Given the description of an element on the screen output the (x, y) to click on. 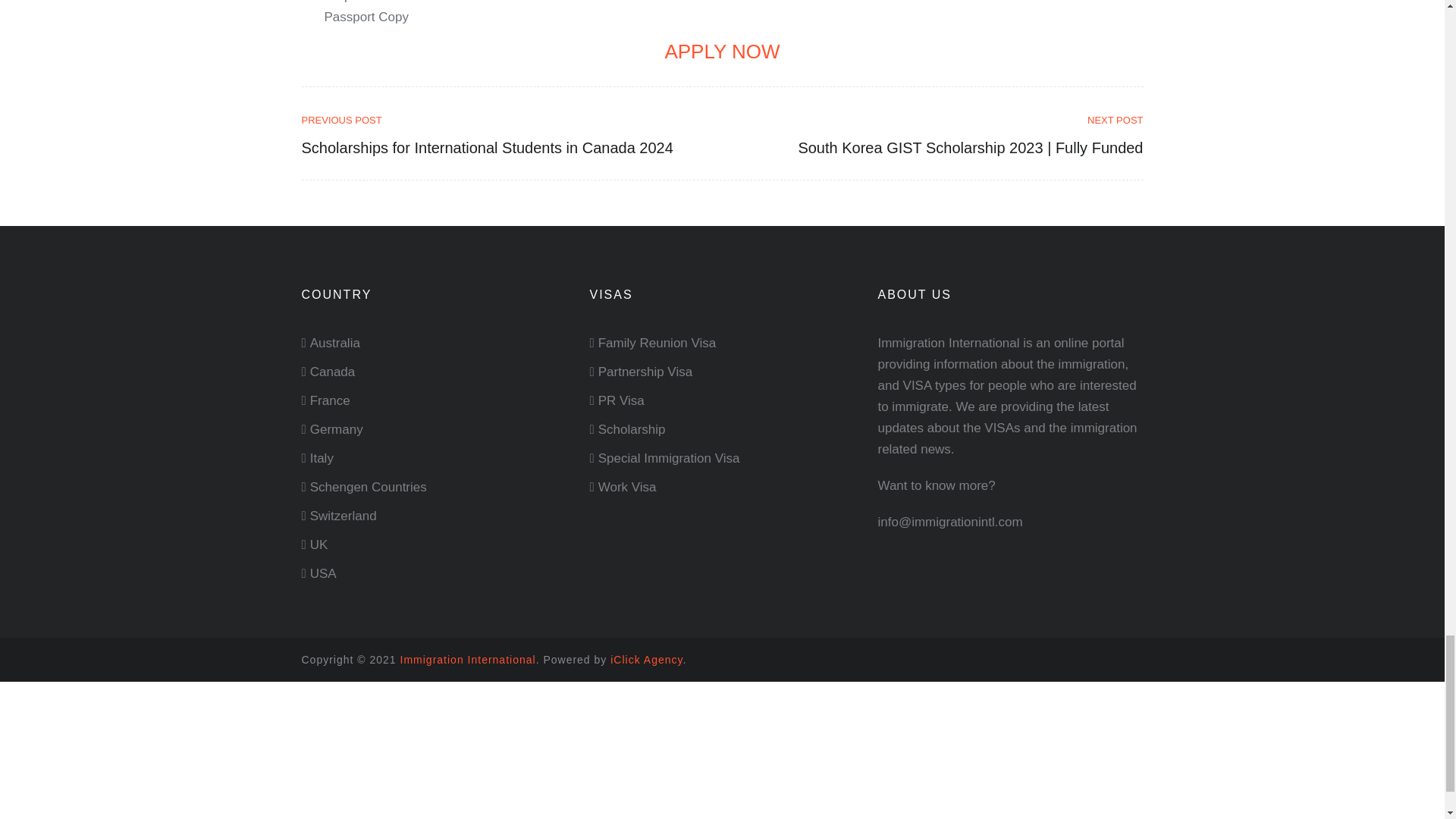
Scholarships for International Students in Canada 2024 (506, 120)
PREVIOUS POST (506, 120)
APPLY NOW (720, 51)
